Given the description of an element on the screen output the (x, y) to click on. 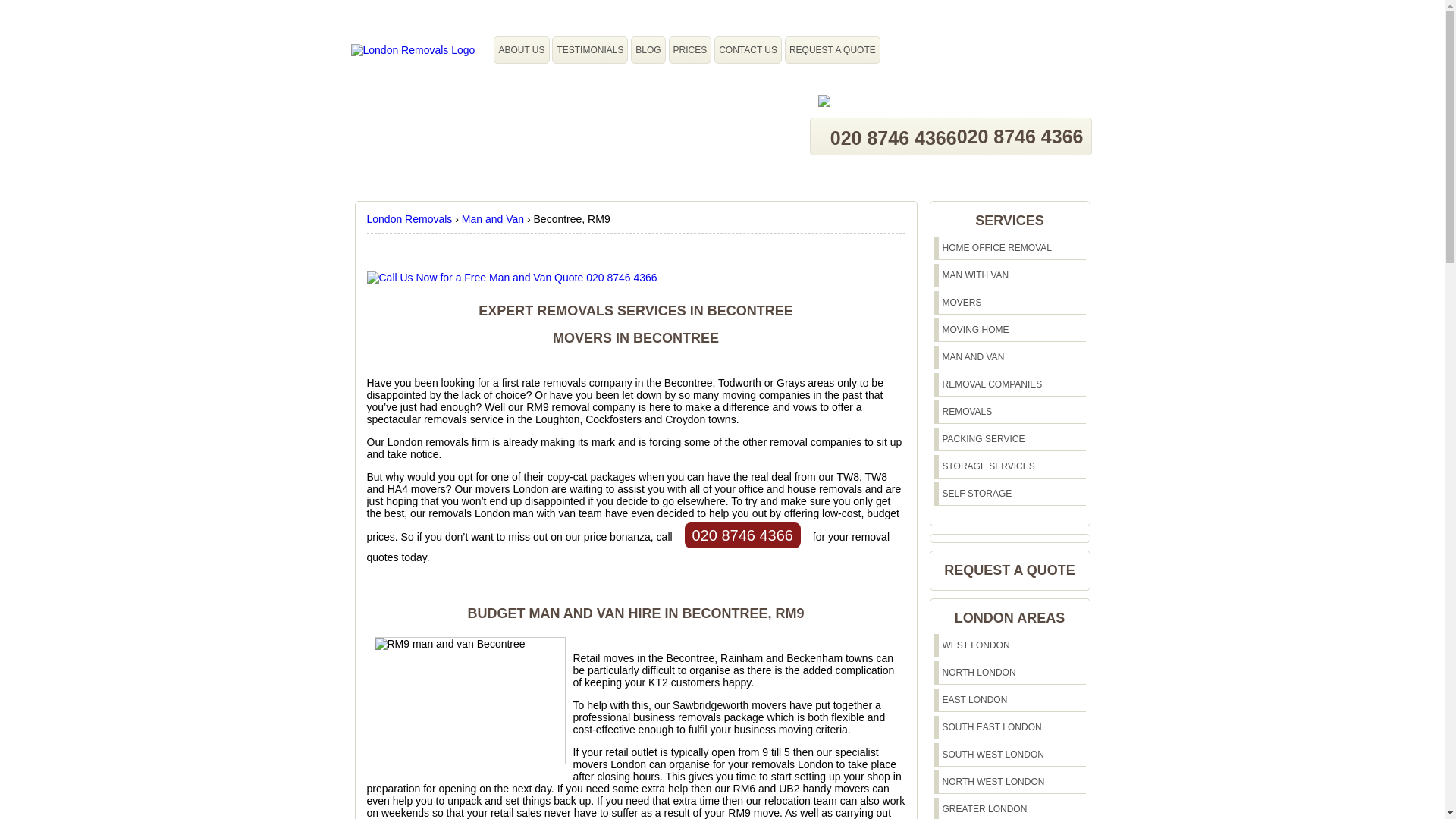
Man and Van (494, 218)
TESTIMONIALS (589, 49)
Call free 020 8746 4366 (742, 534)
CONTACT US (748, 49)
STORAGE SERVICES (987, 466)
MOVING HOME (975, 329)
PRICES (689, 49)
REQUEST A QUOTE (832, 49)
PACKING SERVICE (983, 439)
London Removals (410, 218)
